Given the description of an element on the screen output the (x, y) to click on. 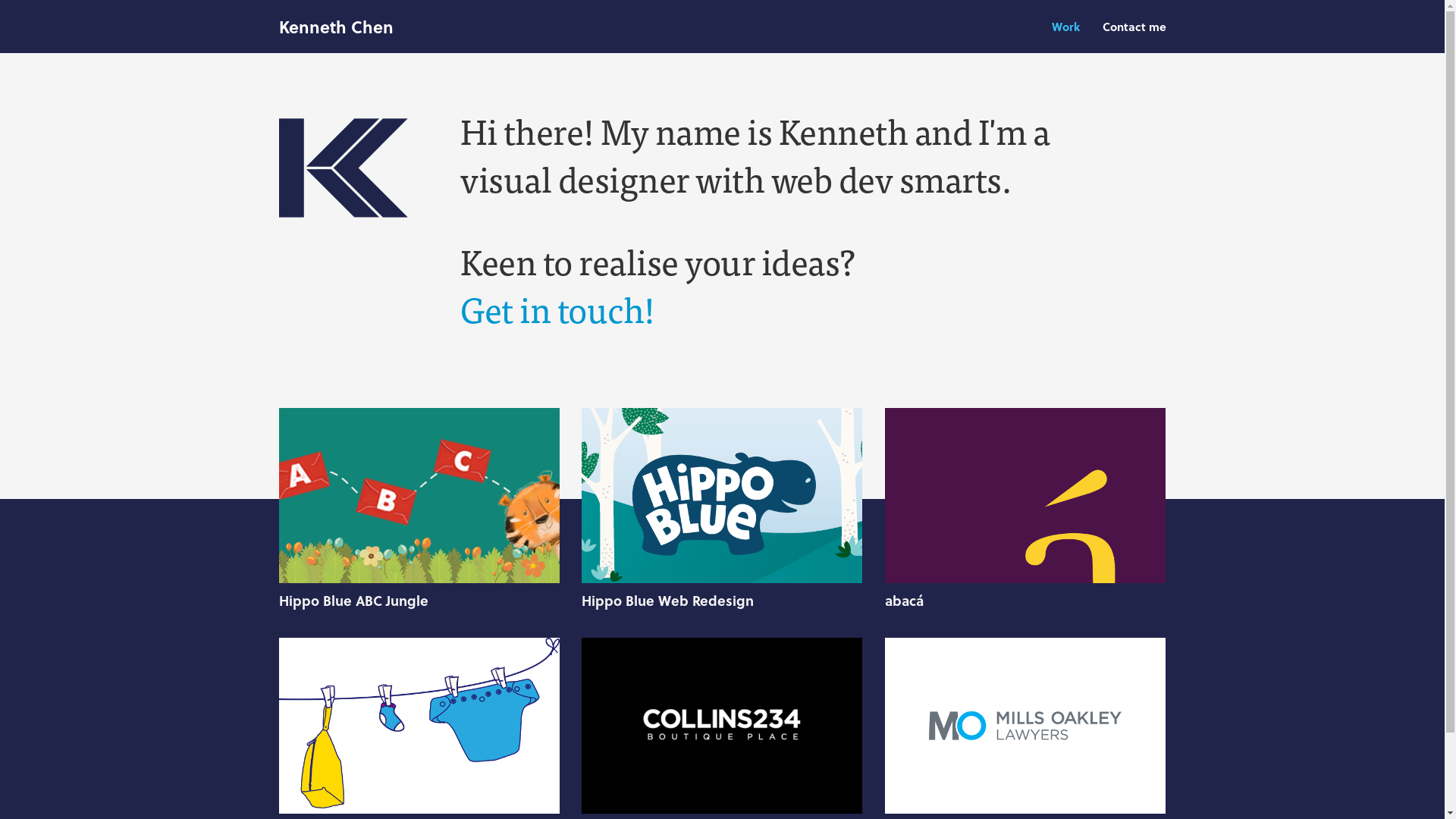
Hippo Blue ABC Jungle Element type: text (419, 595)
Hippo Blue Web Redesign Element type: text (721, 595)
Get in touch! Element type: text (557, 307)
Kenneth Chen Element type: text (336, 26)
Work Element type: text (1076, 24)
Contact me Element type: text (1134, 24)
